Given the description of an element on the screen output the (x, y) to click on. 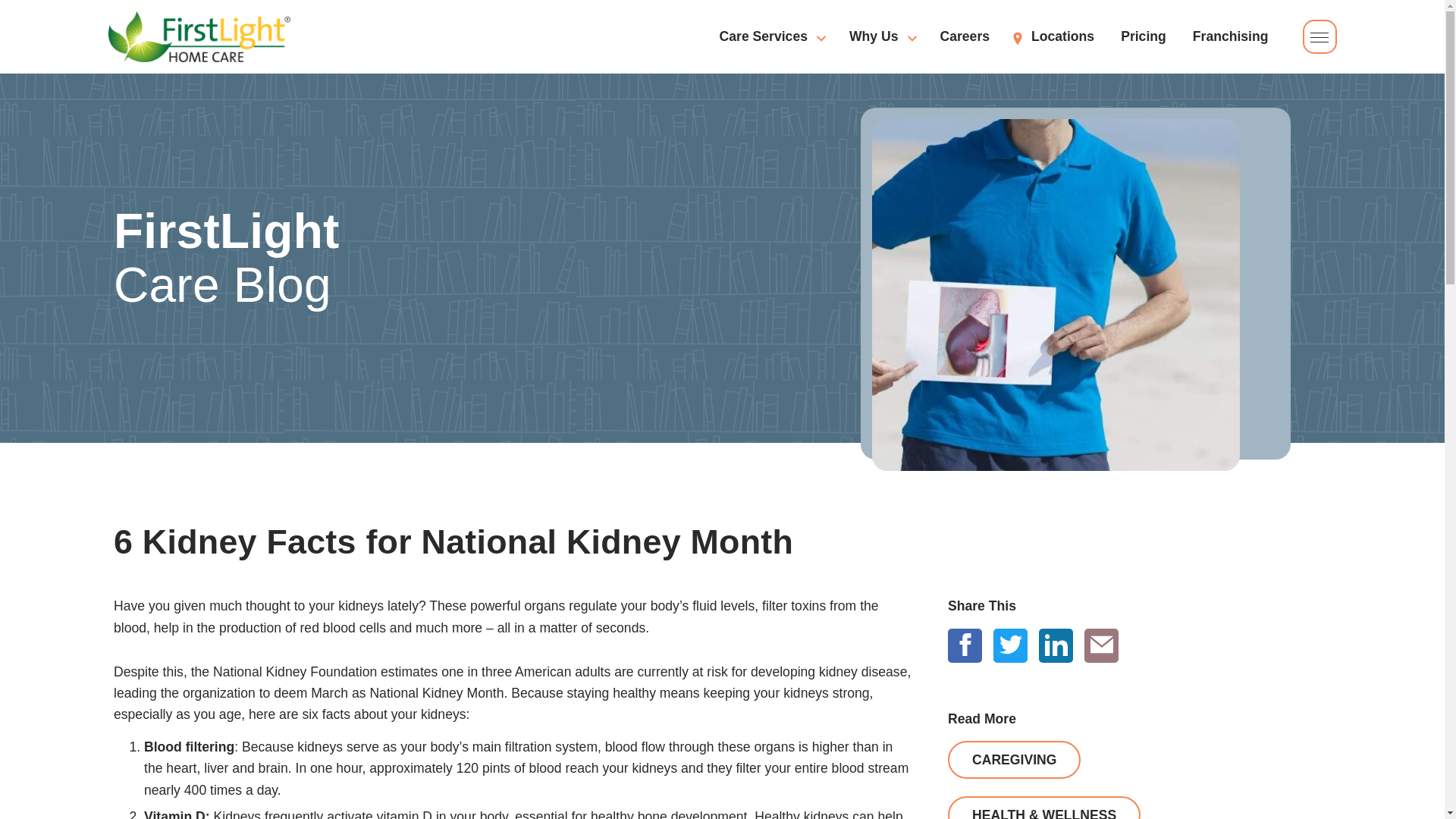
FirstLight Home Care Homepage (198, 36)
Share on Twitter (1009, 645)
Share on LinkedIn (1056, 645)
Why Us (881, 36)
Share on Facebook (458, 258)
6 Kidney Facts for National Kidney Month (964, 645)
Careers (722, 541)
Franchising (965, 36)
Pricing (1230, 36)
Care Services (1143, 36)
Share This (770, 36)
Toggle flyout menu (1138, 631)
Email this Article (1319, 36)
Locations (1101, 645)
